Given the description of an element on the screen output the (x, y) to click on. 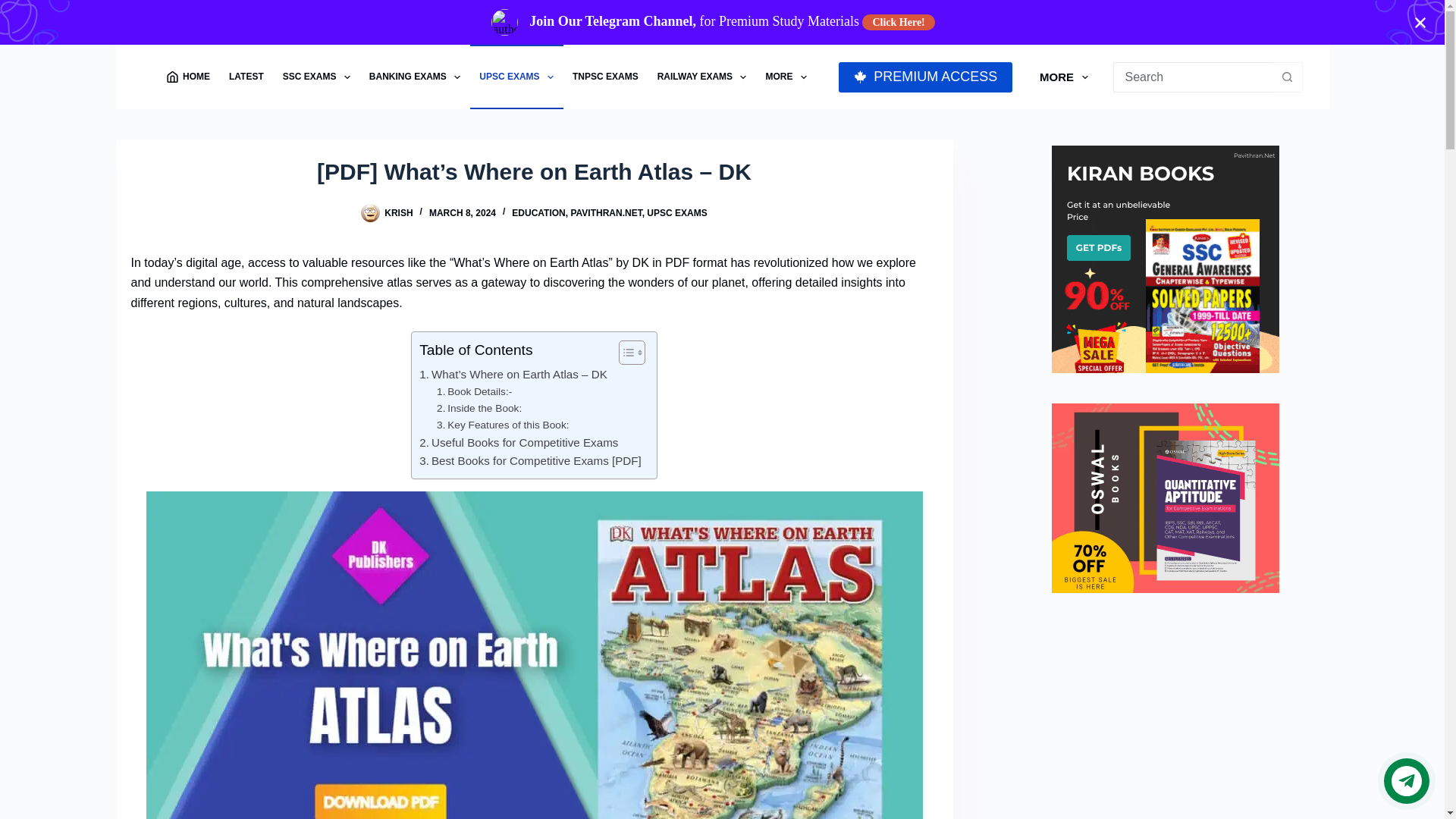
Inside the Book: (478, 408)
Useful Books for Competitive Exams (518, 443)
Key Features of this Book: (502, 425)
Search for... (1192, 77)
Book Details:- (474, 392)
Posts by Krish (398, 213)
Skip to content (15, 7)
